Given the description of an element on the screen output the (x, y) to click on. 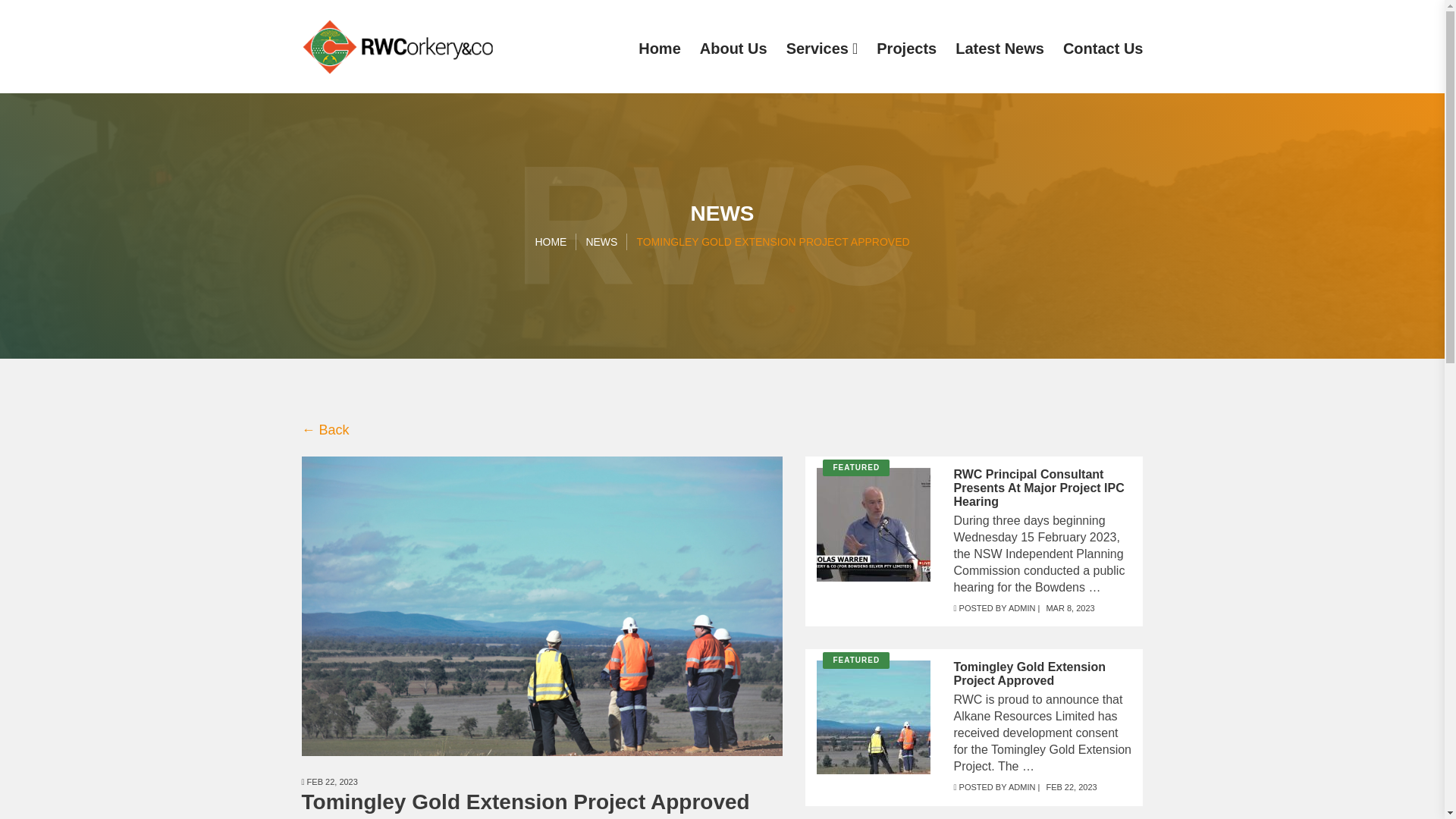
Contact Us (1102, 48)
About Us (733, 48)
Home (660, 48)
HOME (550, 241)
Latest News (999, 48)
Services (822, 48)
Projects (906, 48)
NEWS (601, 241)
